Given the description of an element on the screen output the (x, y) to click on. 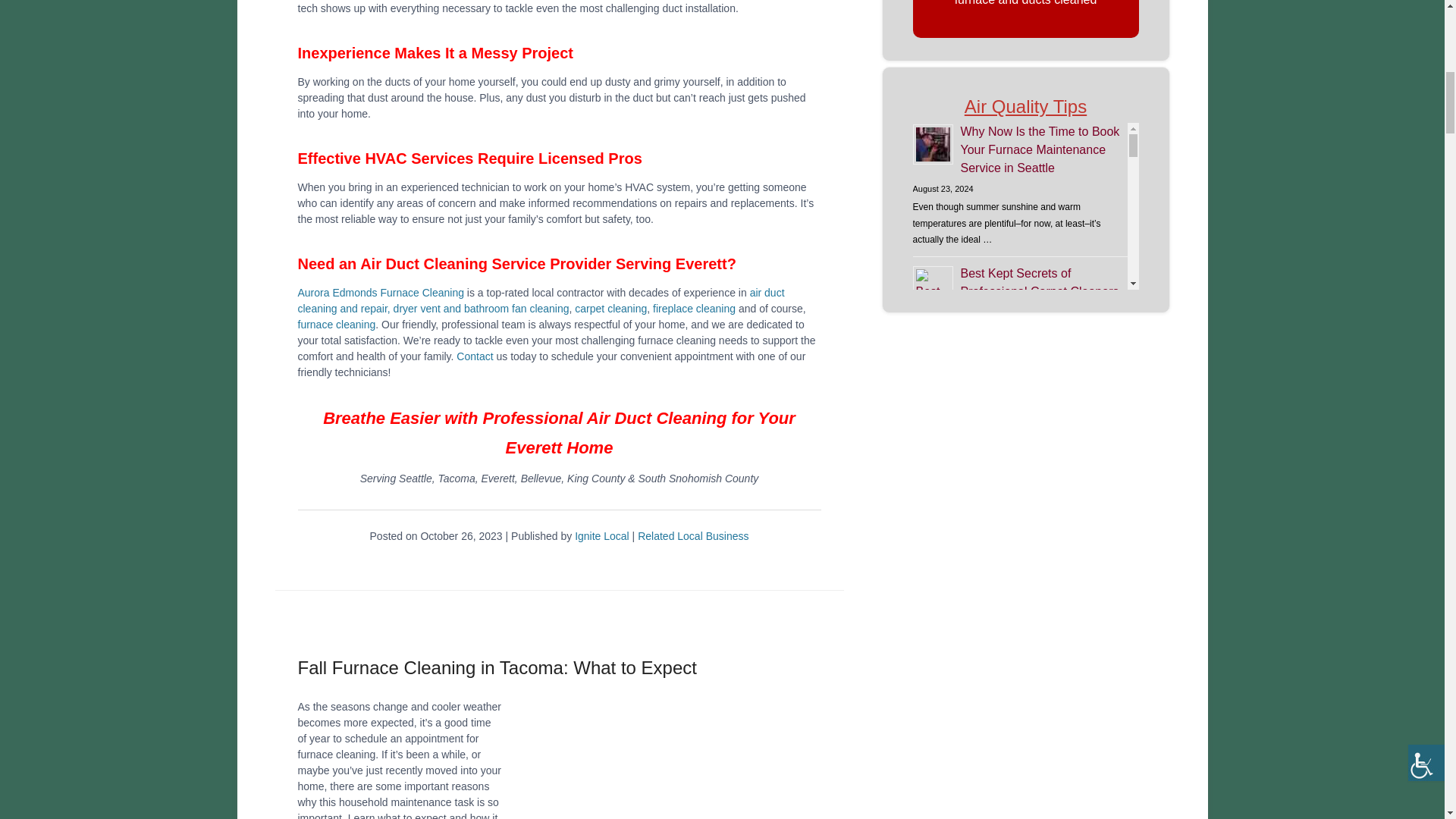
carpet cleaning (610, 308)
Related Local Business (692, 535)
fireplace cleaning (693, 308)
furnace cleaning (336, 324)
Permalink to Fall Furnace Cleaning in Tacoma: What to Expect (496, 667)
air duct cleaning and repair, (540, 300)
Contact (475, 356)
dryer vent and bathroom fan cleaning (481, 308)
Fall Furnace Cleaning in Tacoma: What to Expect (496, 667)
Aurora Edmonds Furnace Cleaning (380, 292)
